Given the description of an element on the screen output the (x, y) to click on. 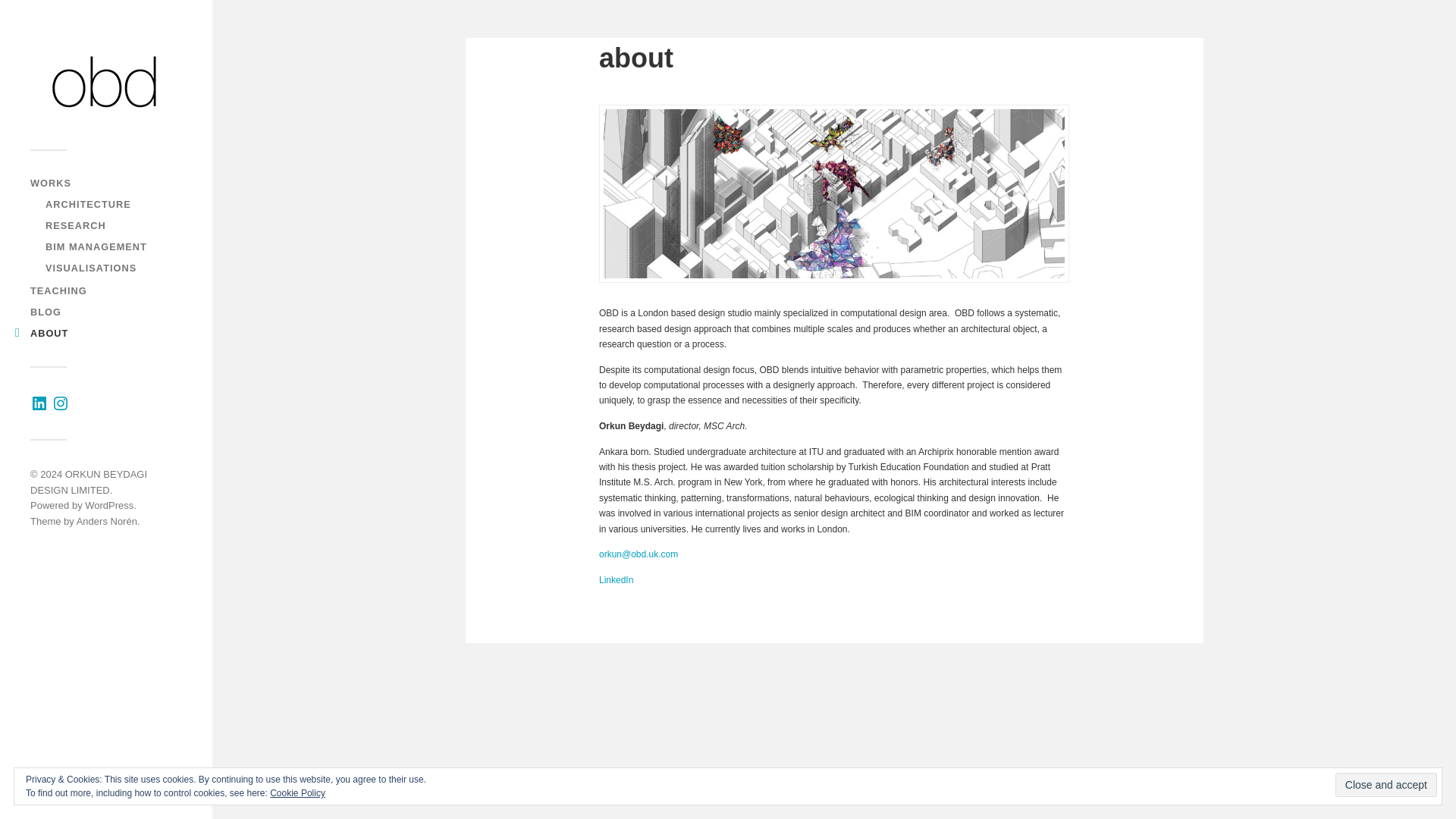
WordPress (108, 505)
BLOG (45, 311)
VISUALISATIONS (90, 267)
TEACHING (58, 290)
RESEARCH (75, 225)
ARCHITECTURE (88, 204)
WORKS (50, 183)
ORKUN BEYDAGI DESIGN LIMITED (88, 482)
LinkedIn (615, 579)
ABOUT (49, 333)
